Given the description of an element on the screen output the (x, y) to click on. 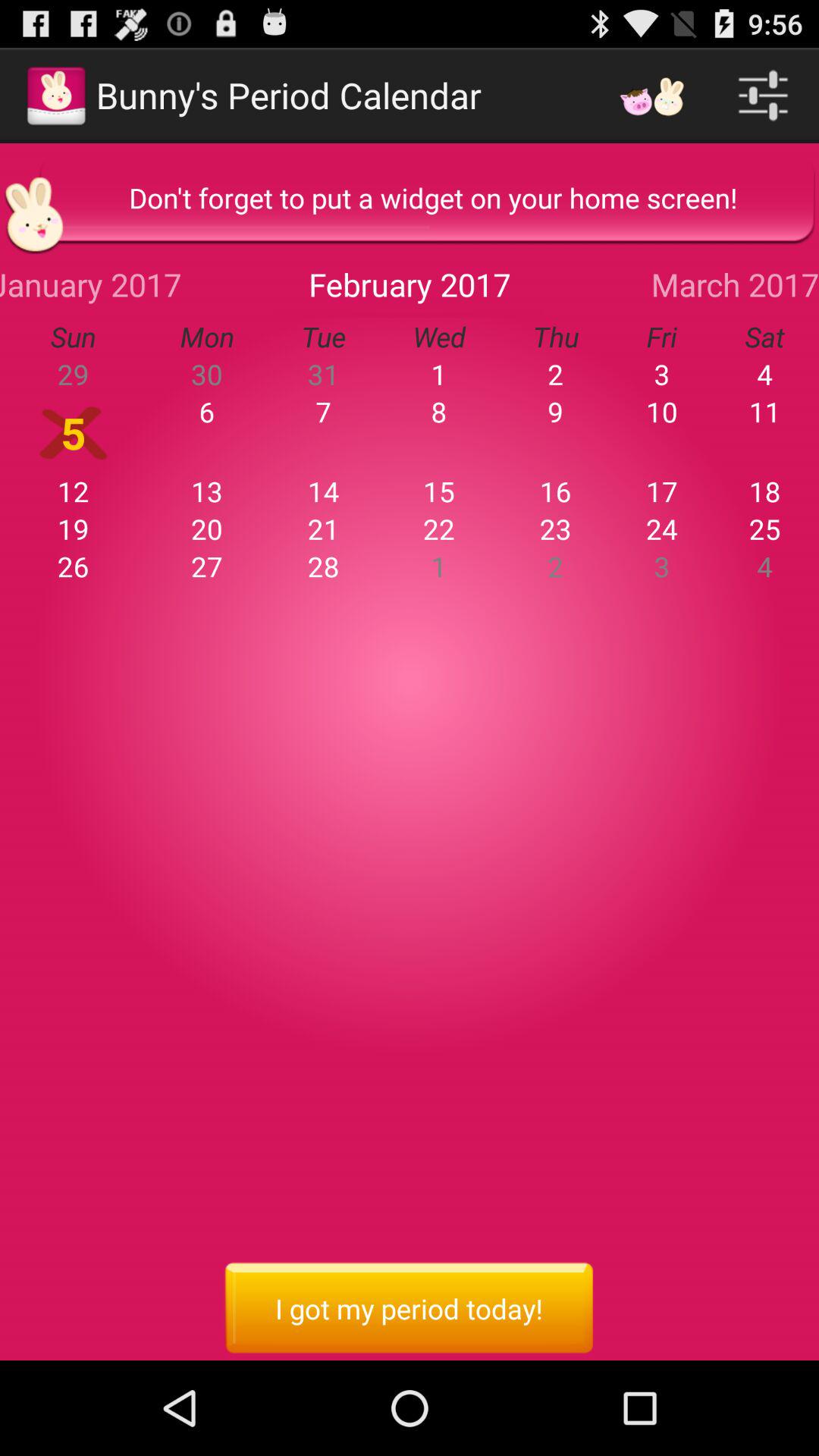
open app next to mon app (323, 374)
